Given the description of an element on the screen output the (x, y) to click on. 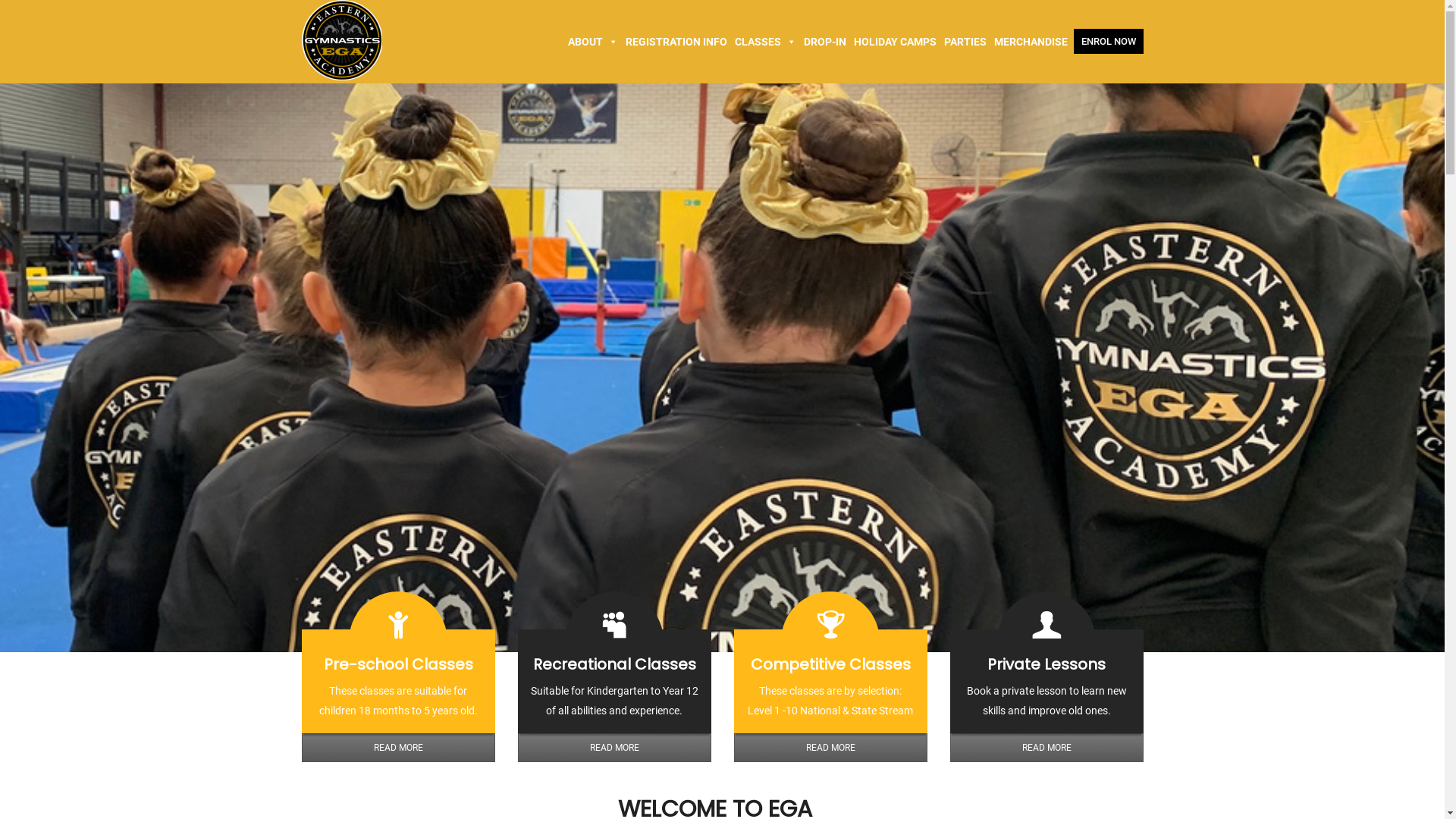
READ MORE Element type: text (613, 747)
ABOUT Element type: text (592, 41)
READ MORE Element type: text (398, 747)
Pre-school Classes Element type: text (397, 663)
DROP-IN Element type: text (824, 41)
HOLIDAY CAMPS Element type: text (894, 41)
REGISTRATION INFO Element type: text (676, 41)
Recreational Classes Element type: text (613, 663)
Private Lessons Element type: text (1046, 663)
READ MORE Element type: text (1045, 747)
PARTIES Element type: text (965, 41)
CLASSES Element type: text (765, 41)
ENROL NOW Element type: text (1108, 40)
Competitive Classes Element type: text (830, 663)
READ MORE Element type: text (830, 747)
MERCHANDISE Element type: text (1030, 41)
